Given the description of an element on the screen output the (x, y) to click on. 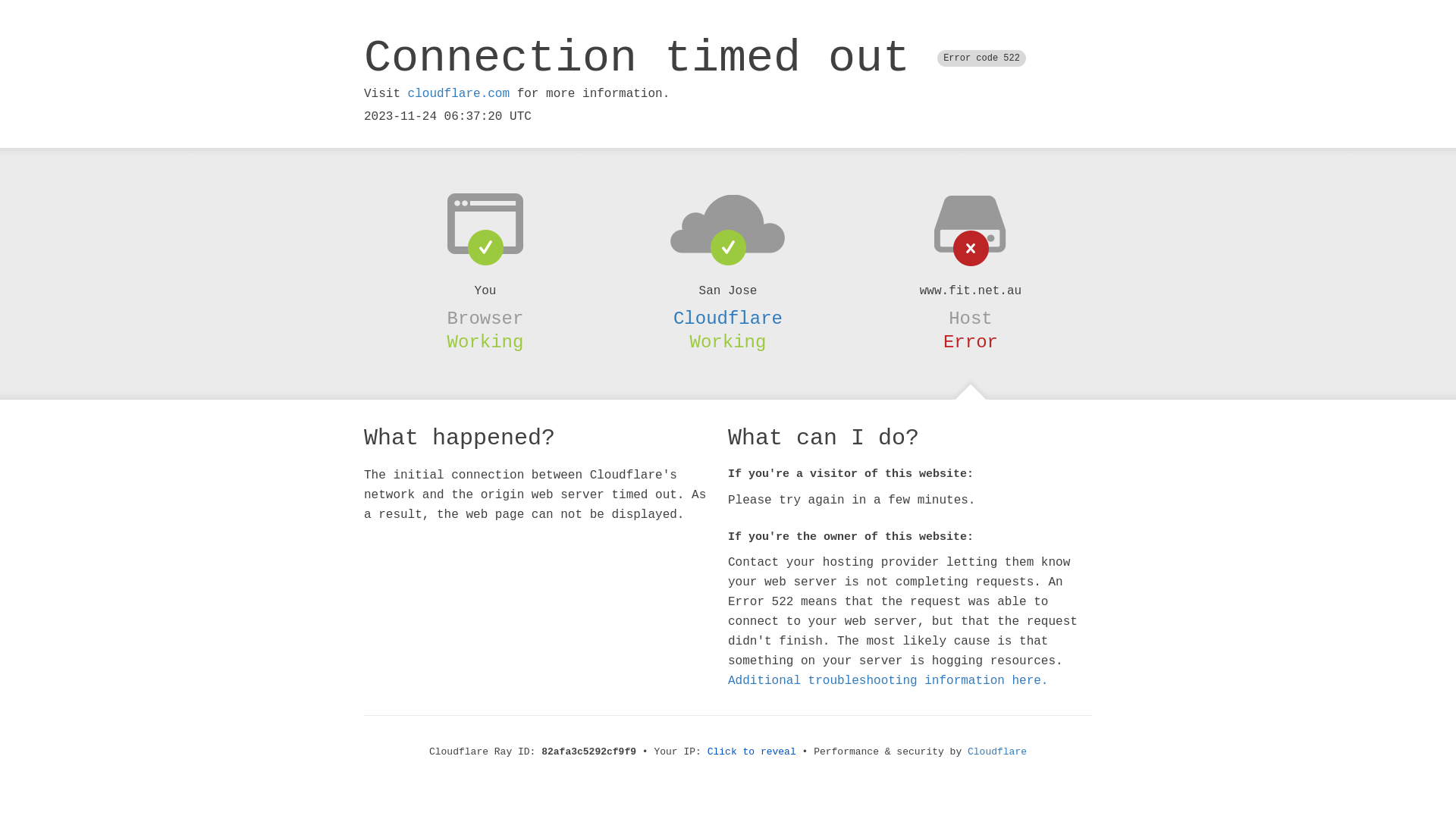
cloudflare.com Element type: text (458, 93)
Cloudflare Element type: text (996, 751)
Cloudflare Element type: text (727, 318)
Additional troubleshooting information here. Element type: text (888, 680)
Click to reveal Element type: text (751, 751)
